Given the description of an element on the screen output the (x, y) to click on. 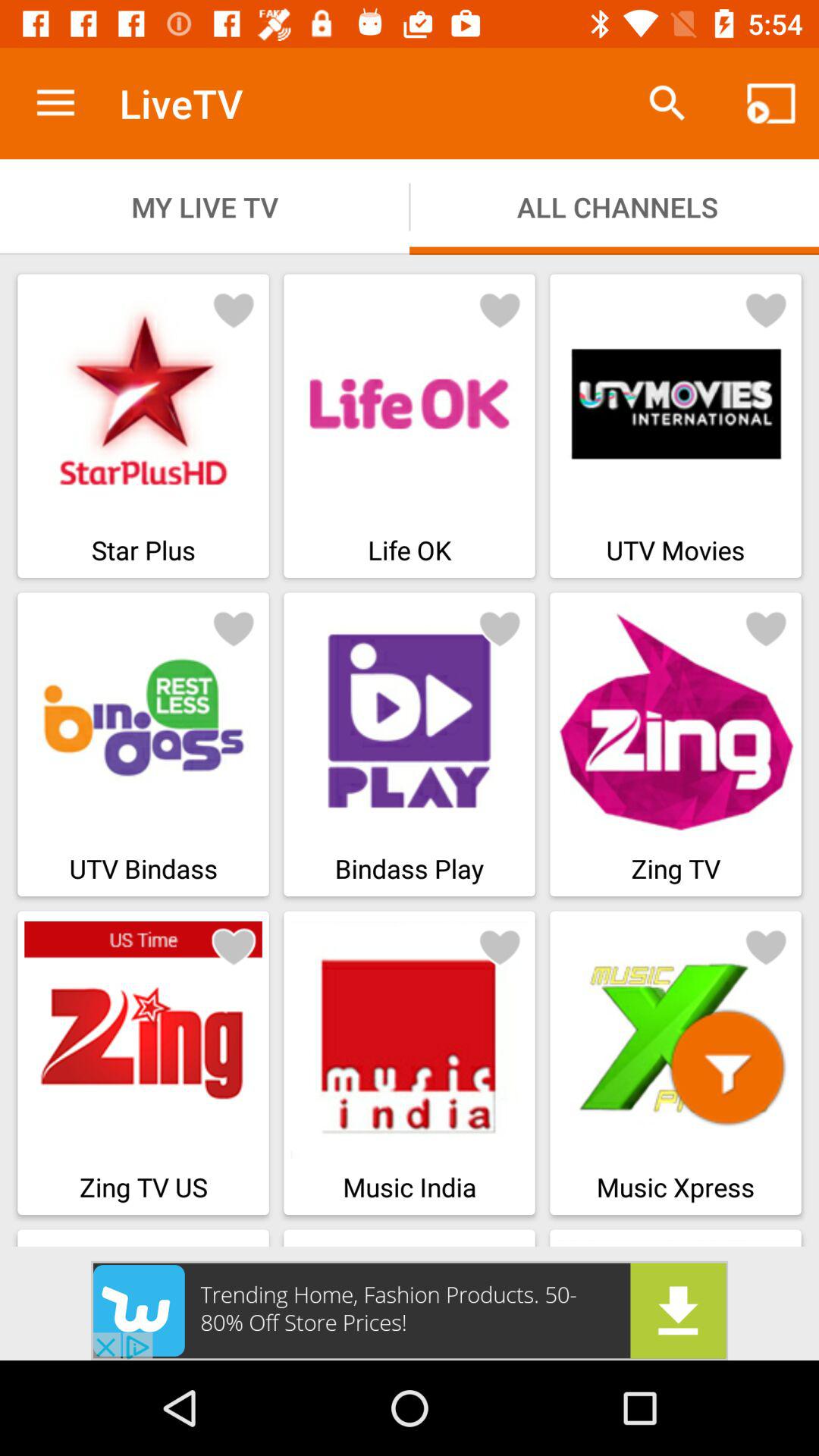
advertisement link (409, 1310)
